Given the description of an element on the screen output the (x, y) to click on. 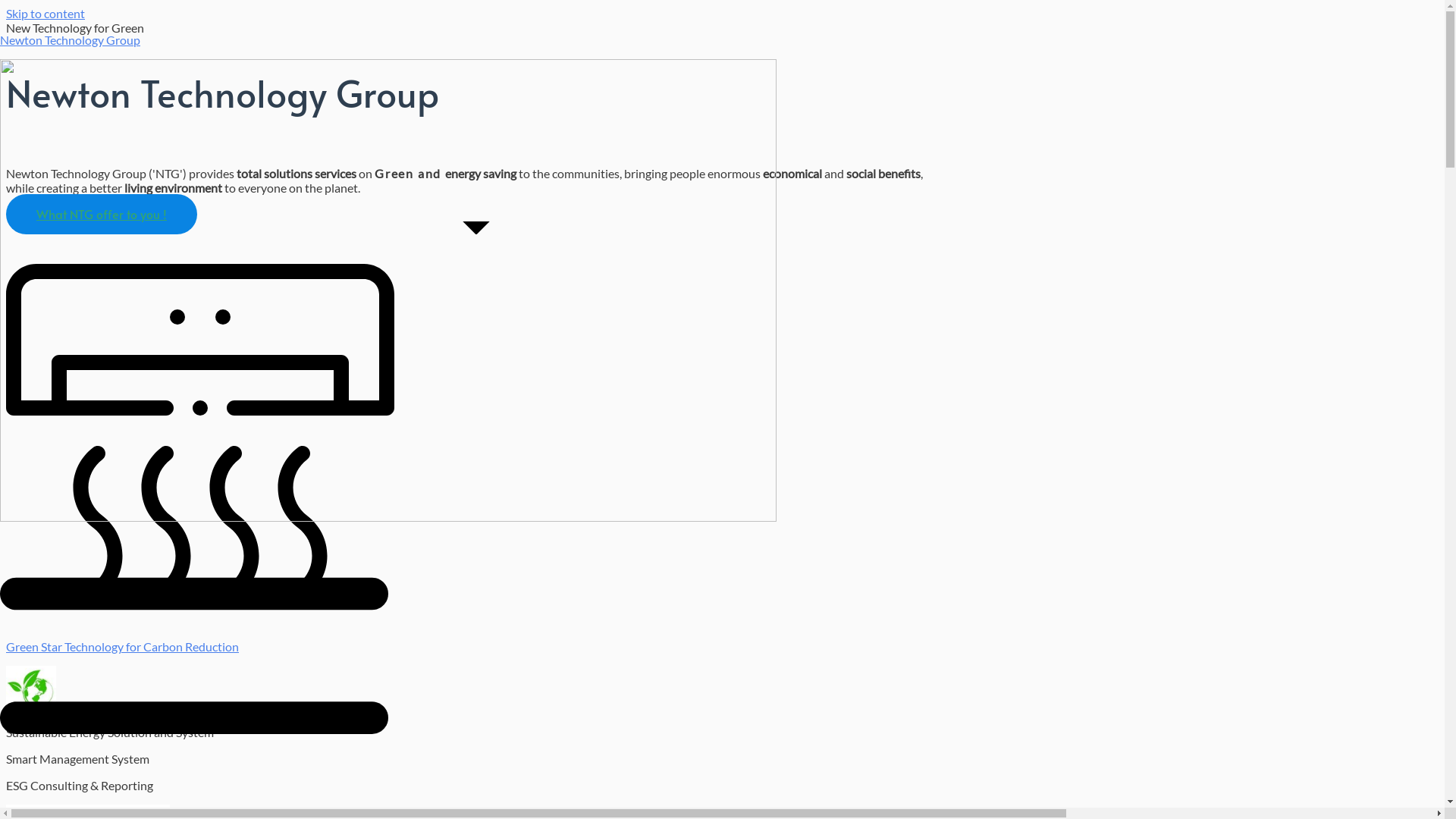
What NTG offer to you ! Element type: text (101, 214)
Skip to content Element type: text (45, 13)
Newton Technology Group Element type: text (70, 39)
Green Star Technology for Carbon Reduction Element type: text (122, 646)
